Given the description of an element on the screen output the (x, y) to click on. 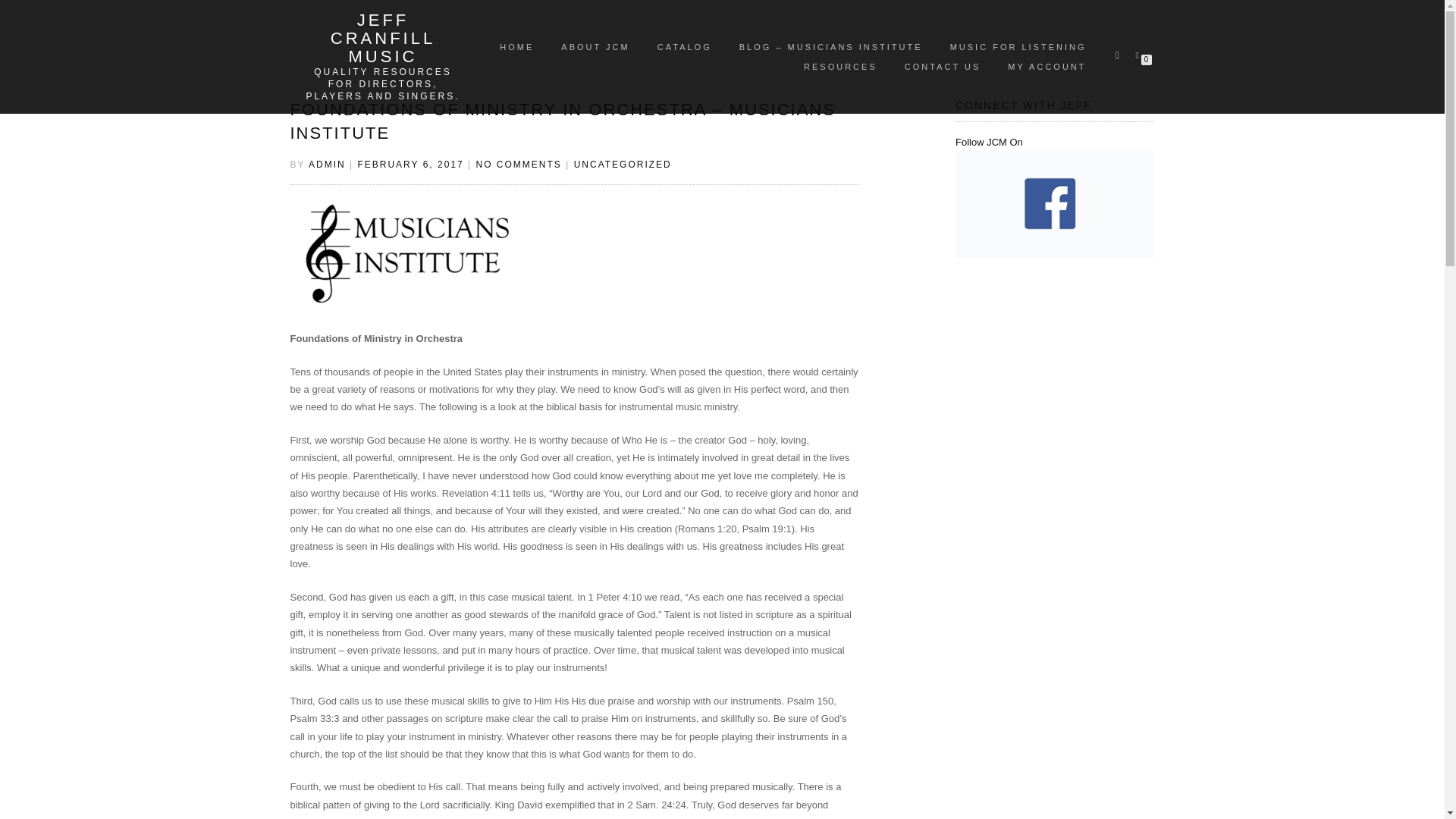
QUALITY RESOURCES FOR DIRECTORS, PLAYERS AND SINGERS. (382, 84)
CATALOG (684, 46)
MUSIC FOR LISTENING (1018, 46)
Quality resources for directors, players and singers. (382, 84)
0 (1139, 53)
Follow JCM On (1054, 172)
JEFF CRANFILL MUSIC (382, 38)
CONTACT US (942, 66)
UNCATEGORIZED (622, 163)
Jeff Cranfill Music (382, 38)
